Given the description of an element on the screen output the (x, y) to click on. 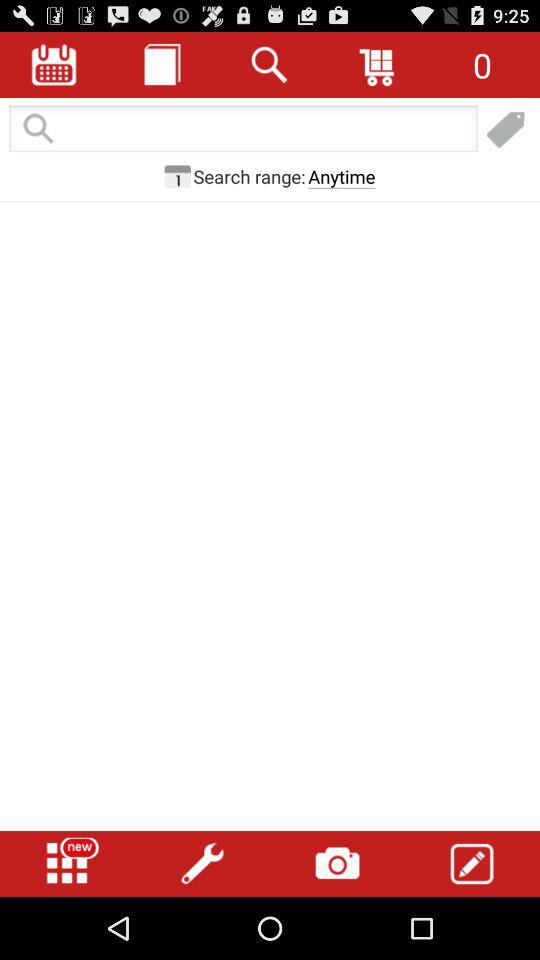
search page (243, 130)
